Given the description of an element on the screen output the (x, y) to click on. 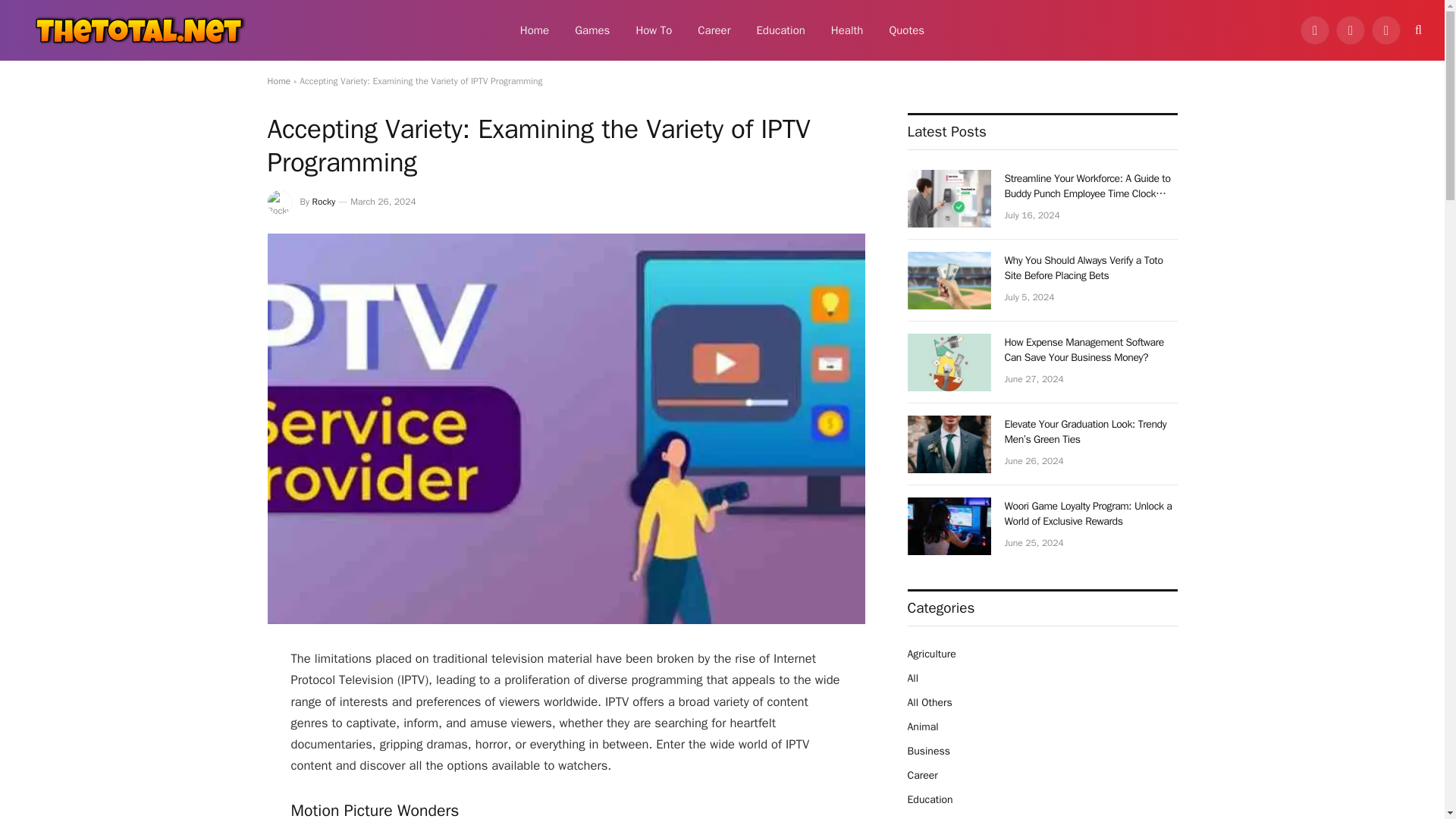
Quotes (906, 30)
Home (277, 80)
Games (592, 30)
Posts by Rocky (324, 201)
Education (779, 30)
How To (653, 30)
Instagram (1385, 30)
Rocky (324, 201)
Facebook (1314, 30)
Home (534, 30)
Career (713, 30)
TheTotal.Net (136, 30)
Health (847, 30)
Twitter (1350, 30)
